Given the description of an element on the screen output the (x, y) to click on. 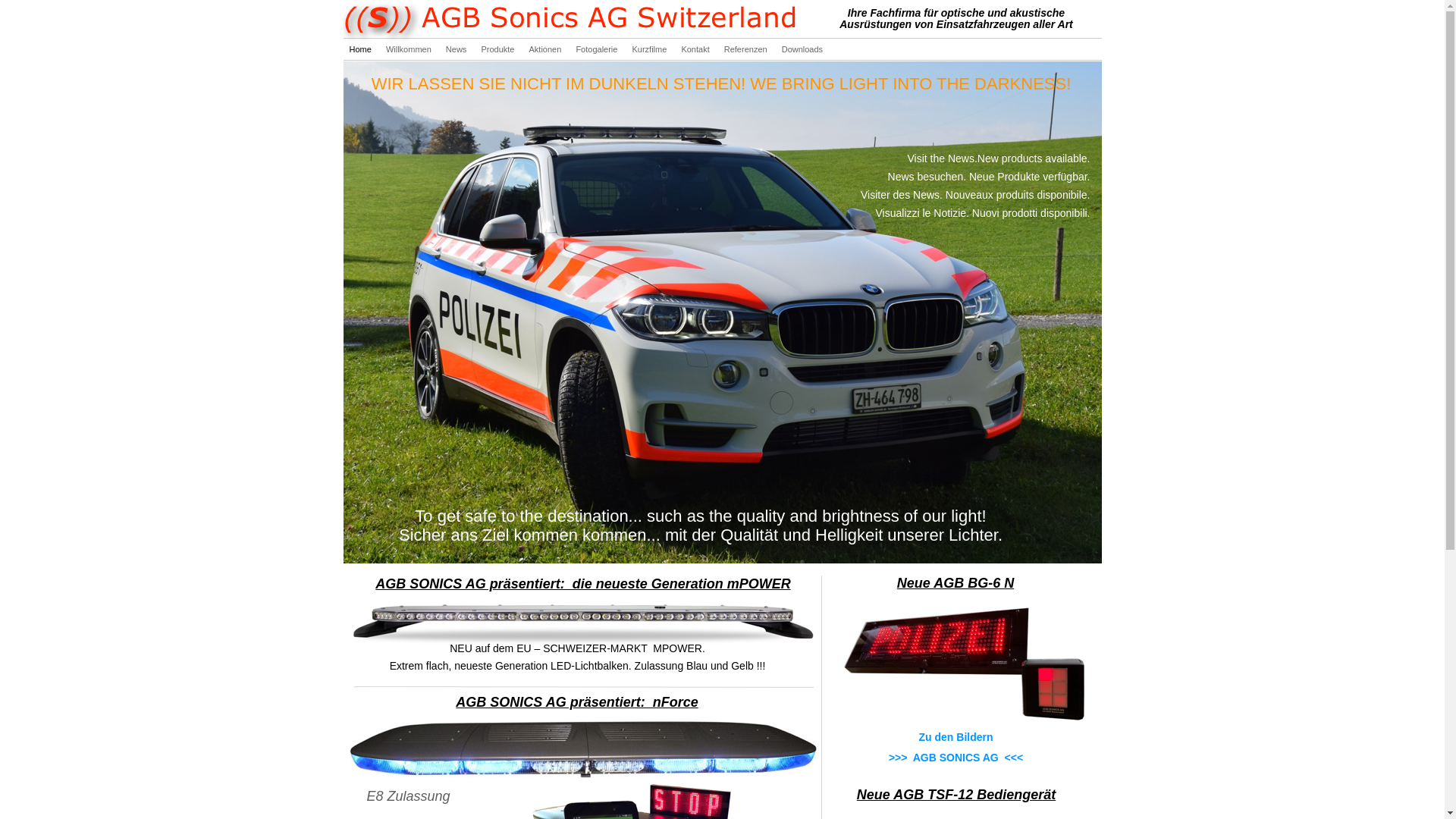
>>>  AGB SONICS AG  <<< Element type: text (955, 757)
Fotogalerie Element type: text (597, 48)
Kontakt Element type: text (695, 48)
News Element type: text (457, 48)
Willkommen Element type: text (409, 48)
Downloads Element type: text (801, 48)
Referenzen Element type: text (746, 48)
Zu den Bildern Element type: text (956, 737)
Aktionen Element type: text (546, 48)
Produkte Element type: text (498, 48)
Home Element type: text (360, 48)
Kurzfilme Element type: text (649, 48)
